Given the description of an element on the screen output the (x, y) to click on. 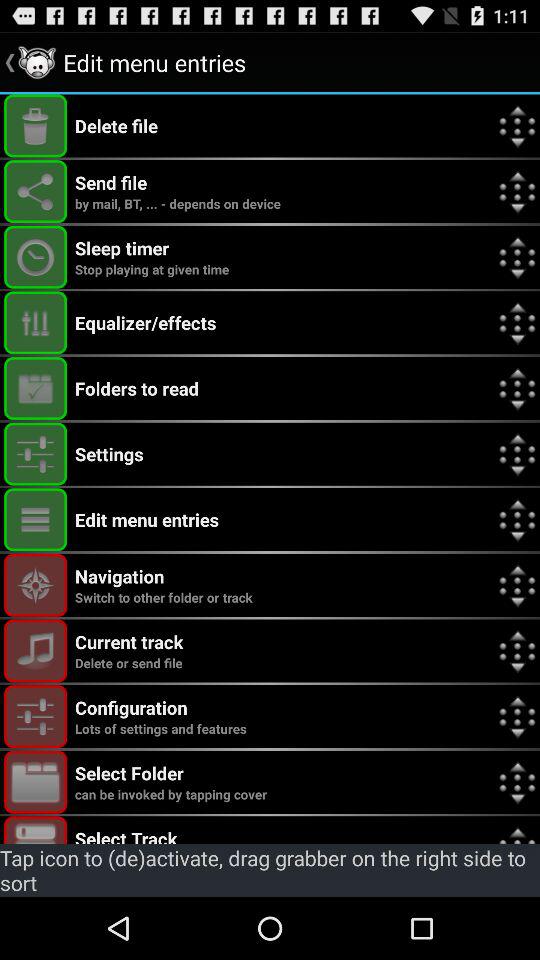
tap to invoke select folder (35, 781)
